Given the description of an element on the screen output the (x, y) to click on. 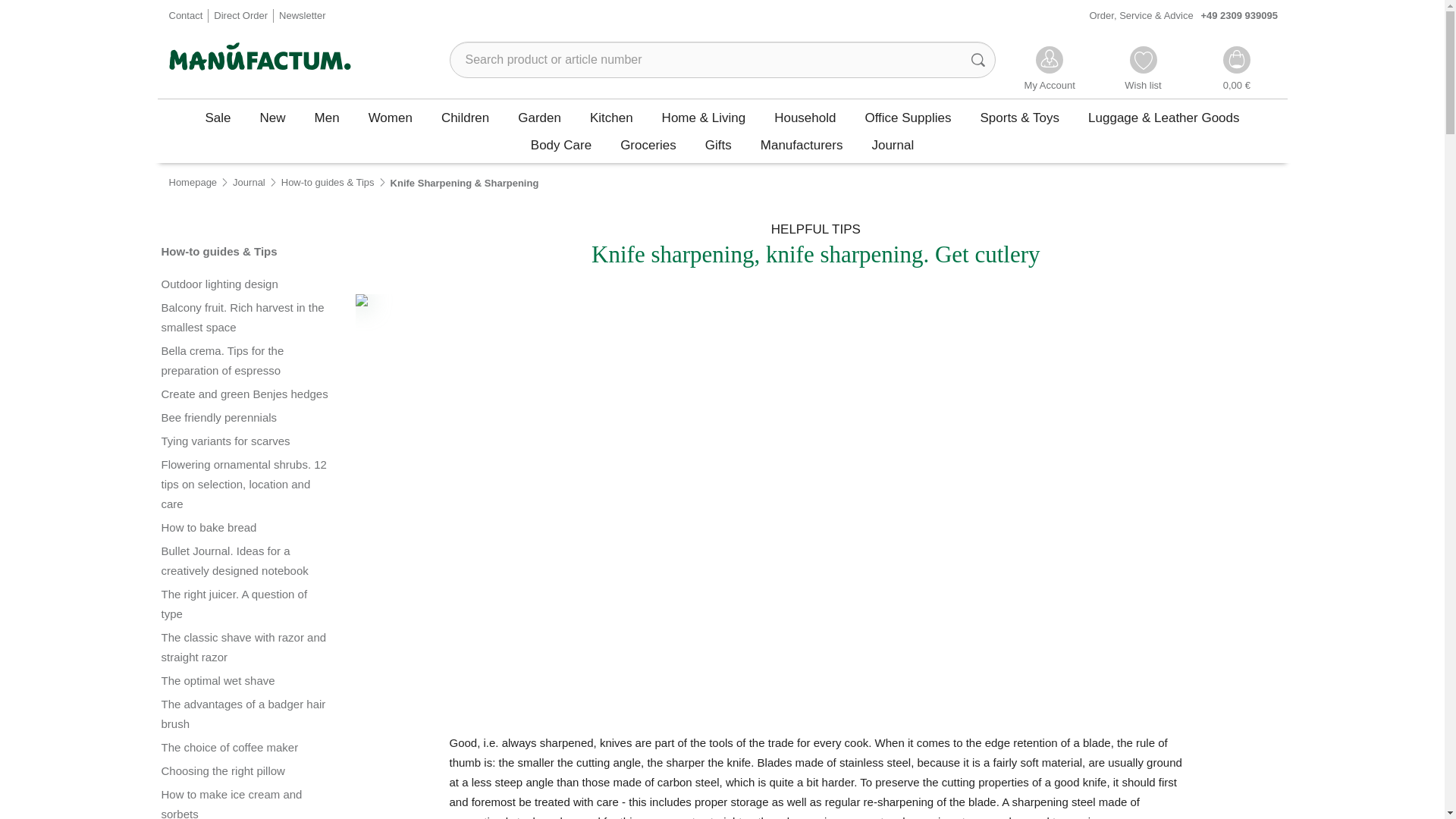
Children (464, 117)
Household (805, 117)
Garden (539, 117)
Contact (185, 16)
Men (326, 117)
My Account (1049, 69)
Direct Order (240, 16)
Sale (218, 117)
Women (389, 117)
Kitchen (611, 117)
Wish list (1142, 69)
Newsletter (301, 16)
New (272, 117)
